Given the description of an element on the screen output the (x, y) to click on. 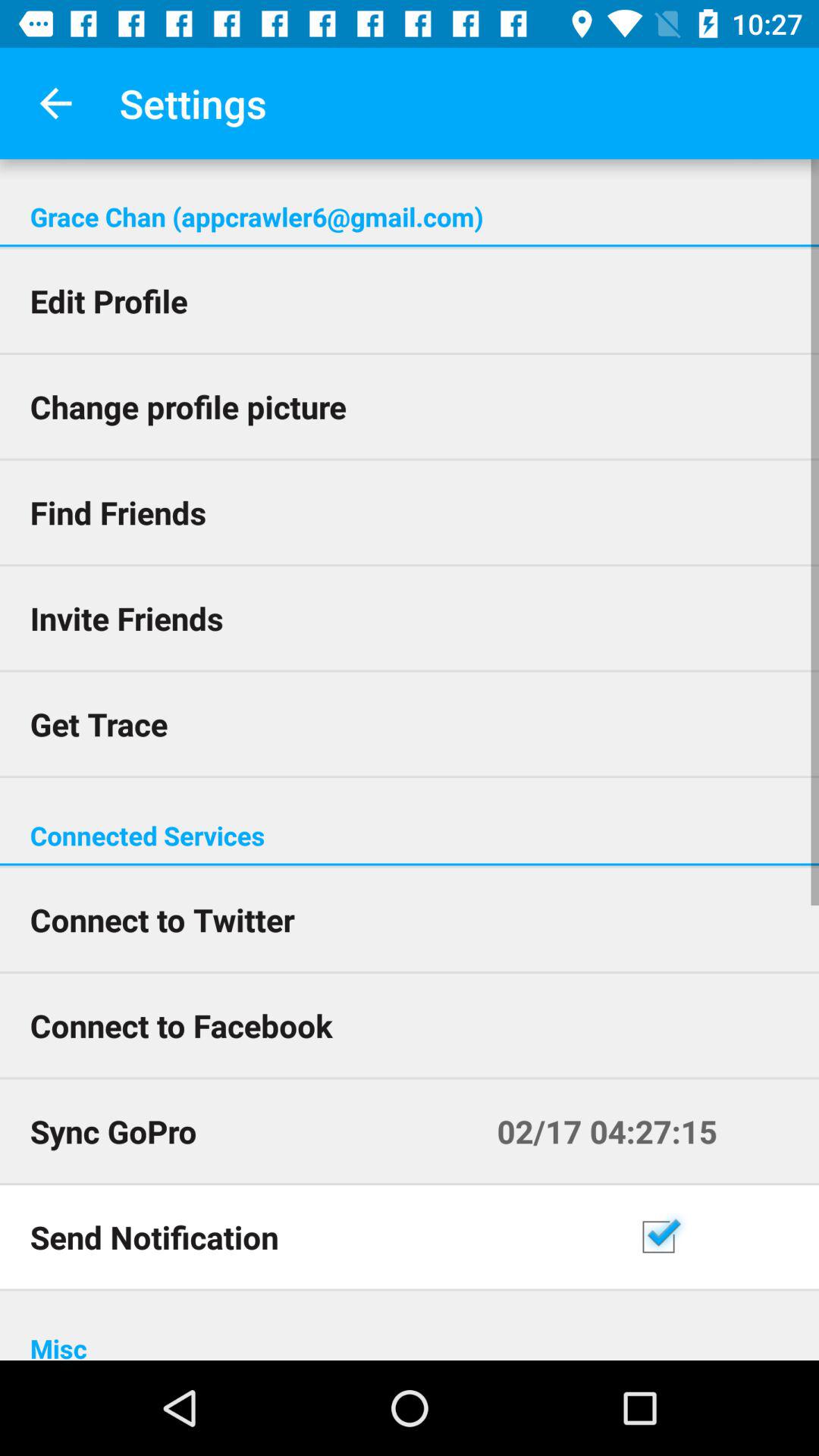
turn off the 02 17 04 (642, 1130)
